Given the description of an element on the screen output the (x, y) to click on. 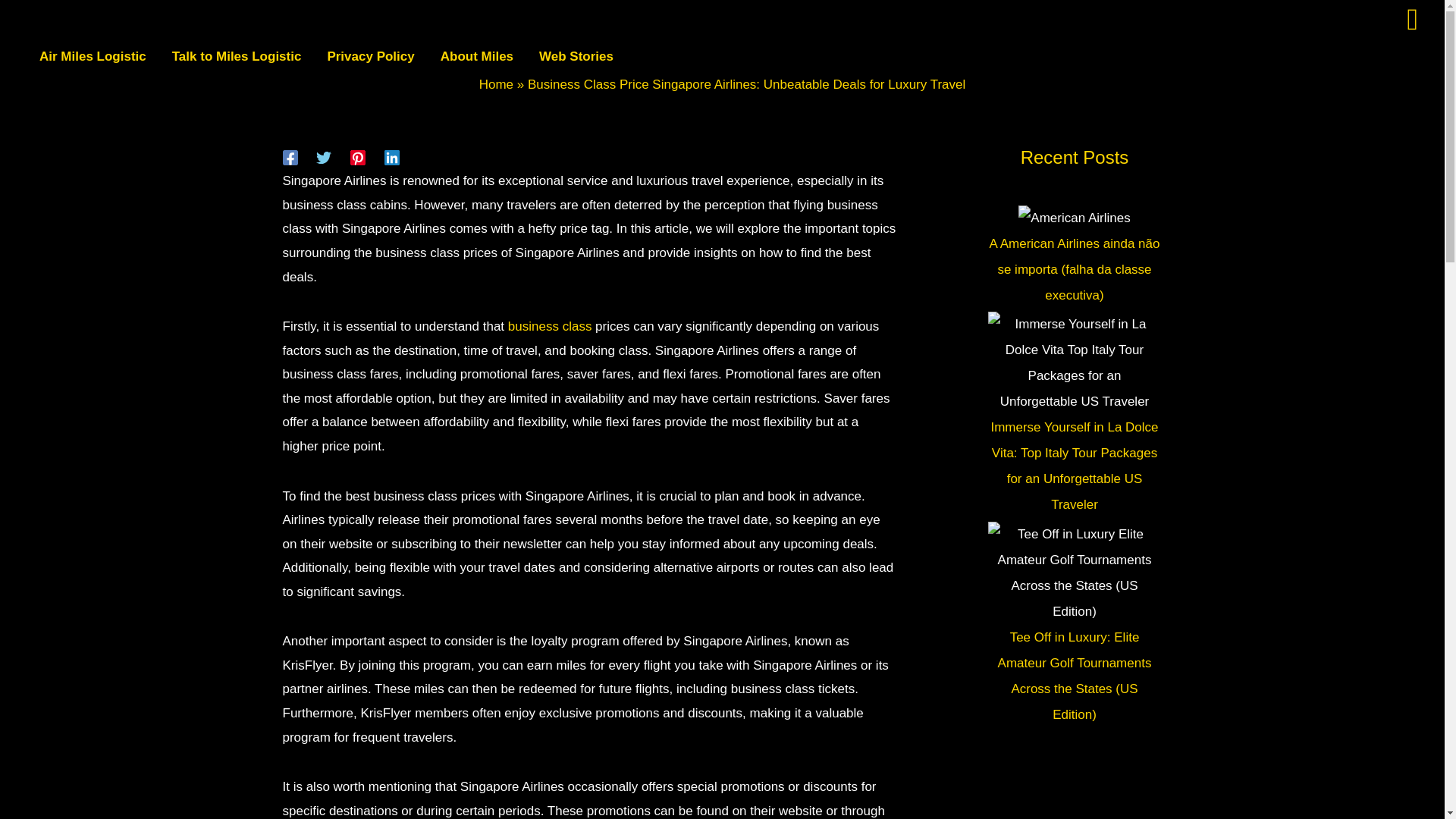
Air Miles Logistic (92, 56)
Home (496, 83)
Talk to Miles Logistic (236, 56)
Privacy Policy (370, 56)
business class (550, 326)
business class (550, 326)
Web Stories (575, 56)
About Miles (476, 56)
